Given the description of an element on the screen output the (x, y) to click on. 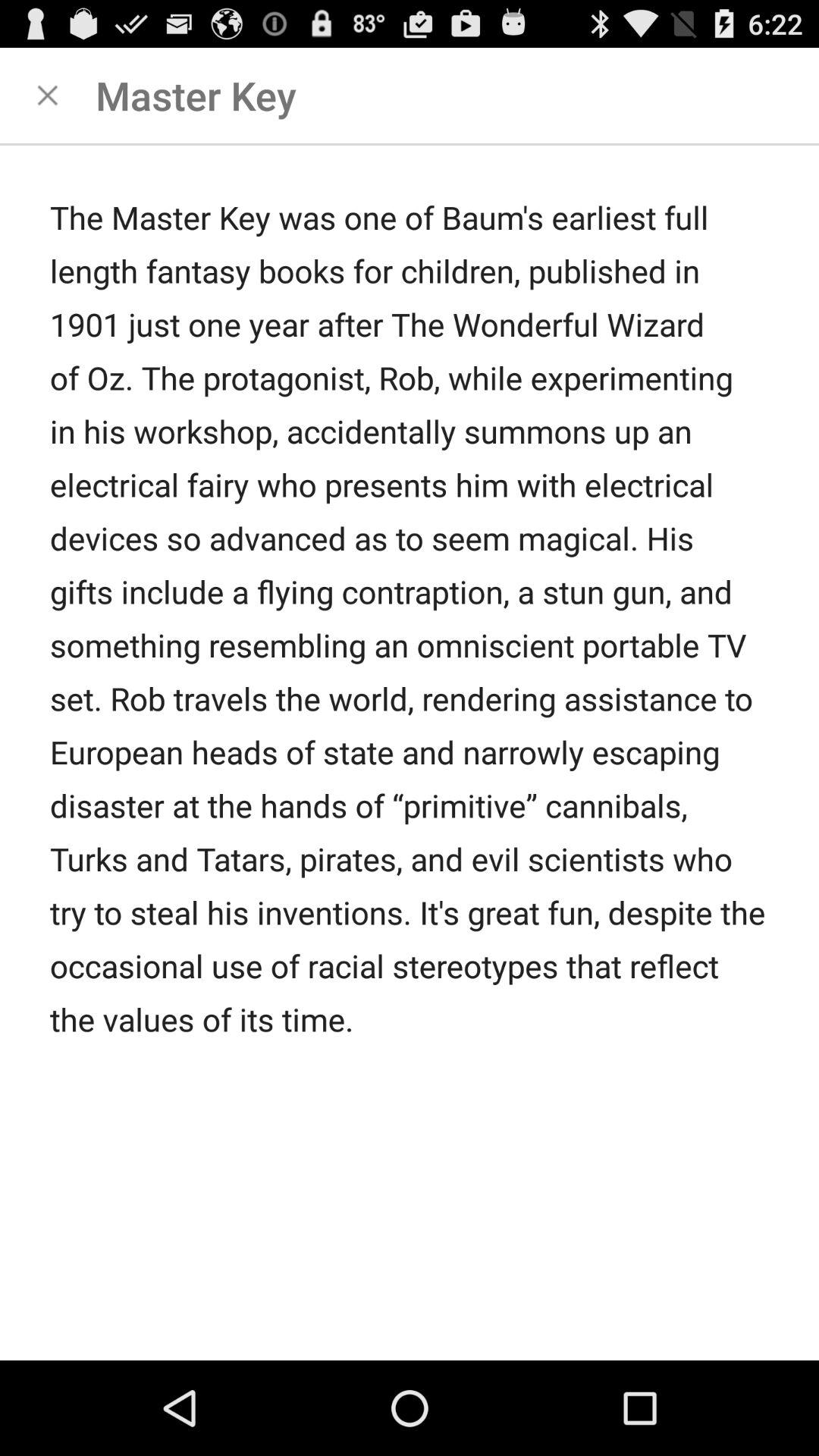
choose the item next to the master key icon (47, 95)
